Given the description of an element on the screen output the (x, y) to click on. 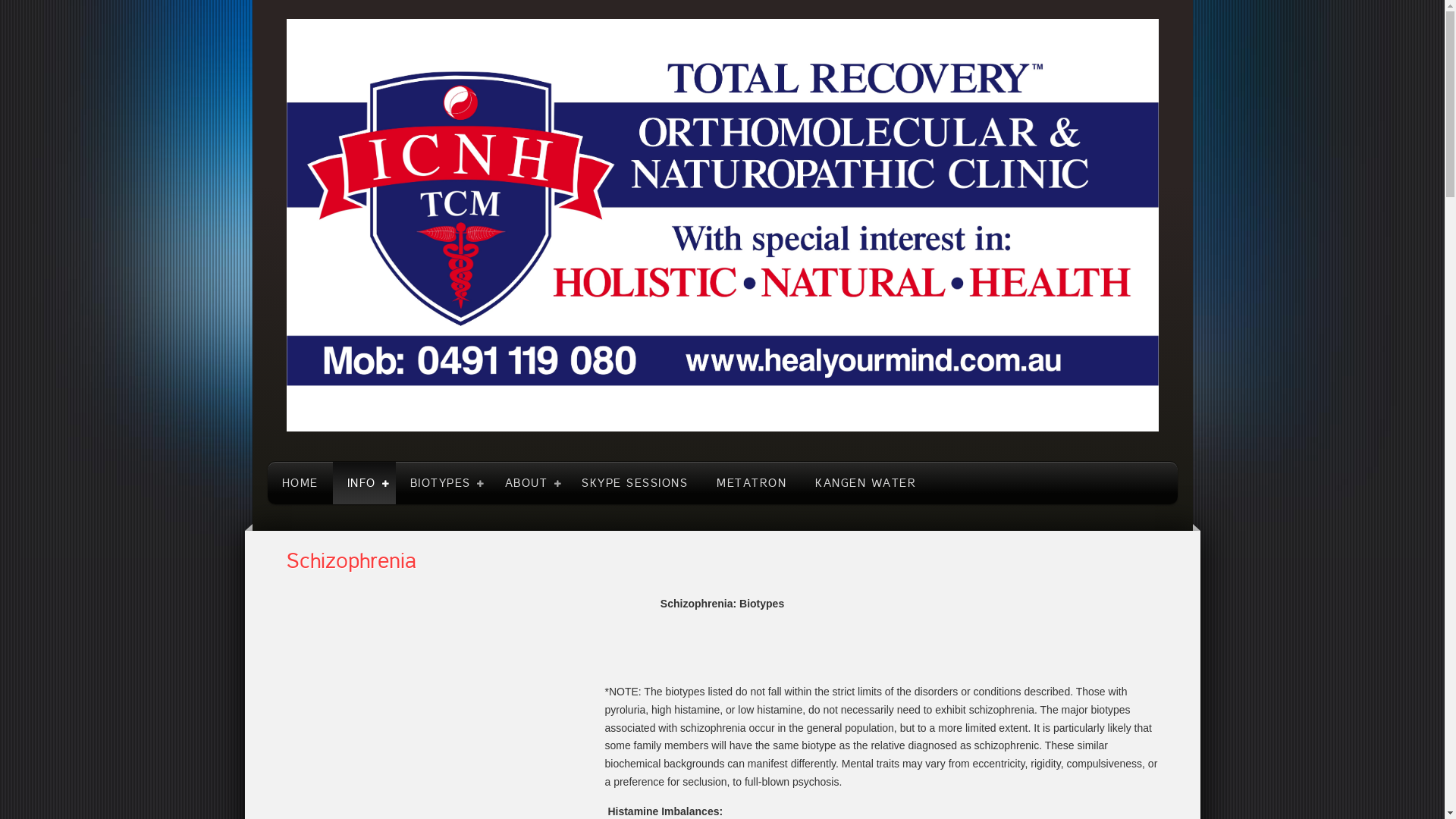
HOME Element type: text (299, 482)
METATRON Element type: text (751, 482)
BIOTYPES Element type: text (442, 482)
KANGEN WATER Element type: text (865, 482)
SKYPE SESSIONS Element type: text (634, 482)
ABOUT Element type: text (528, 482)
INFO Element type: text (363, 482)
Schizophrenia Element type: text (351, 560)
